Given the description of an element on the screen output the (x, y) to click on. 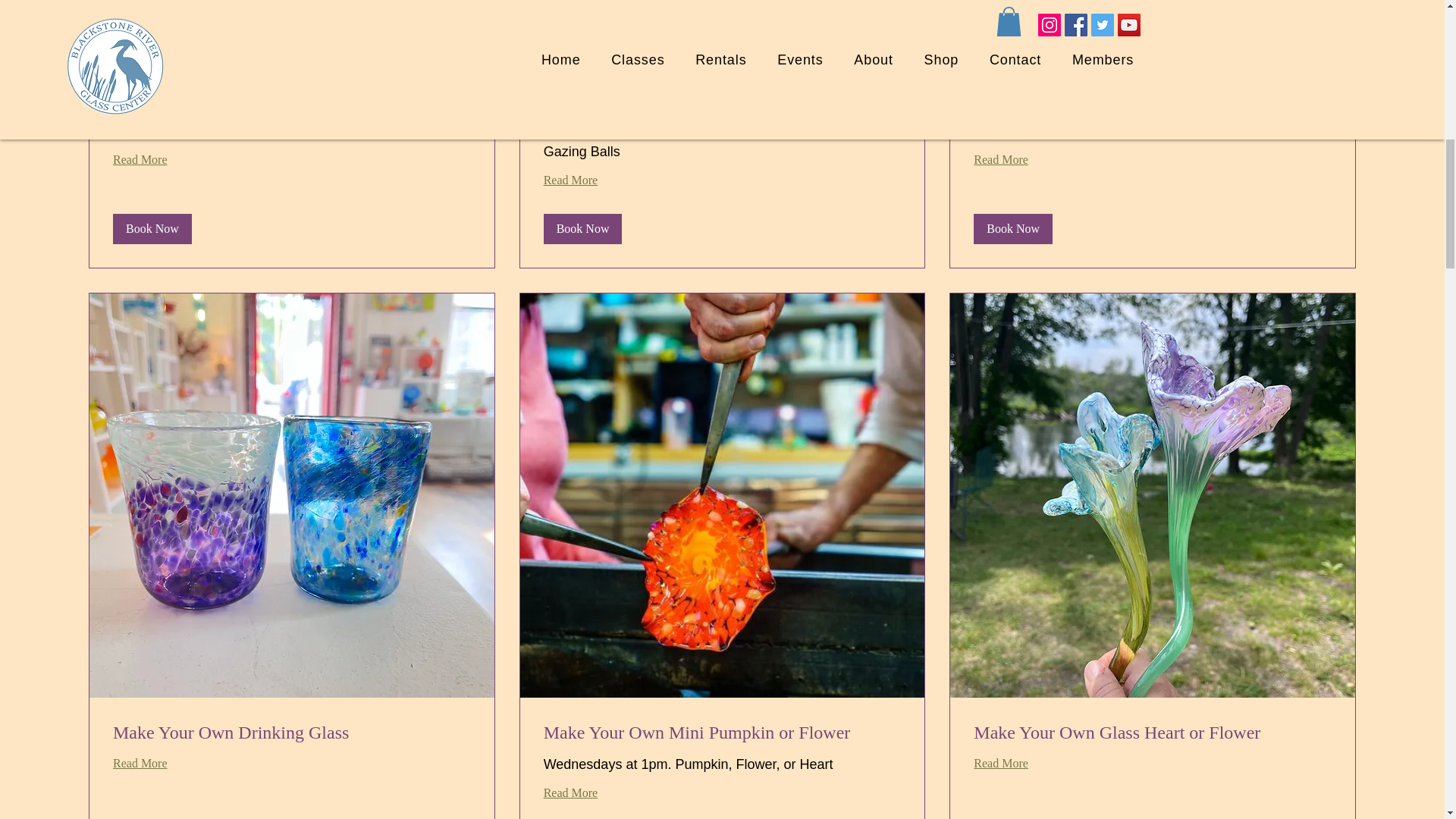
Friday Nite Happy Hour Glass Blowing (291, 99)
